Given the description of an element on the screen output the (x, y) to click on. 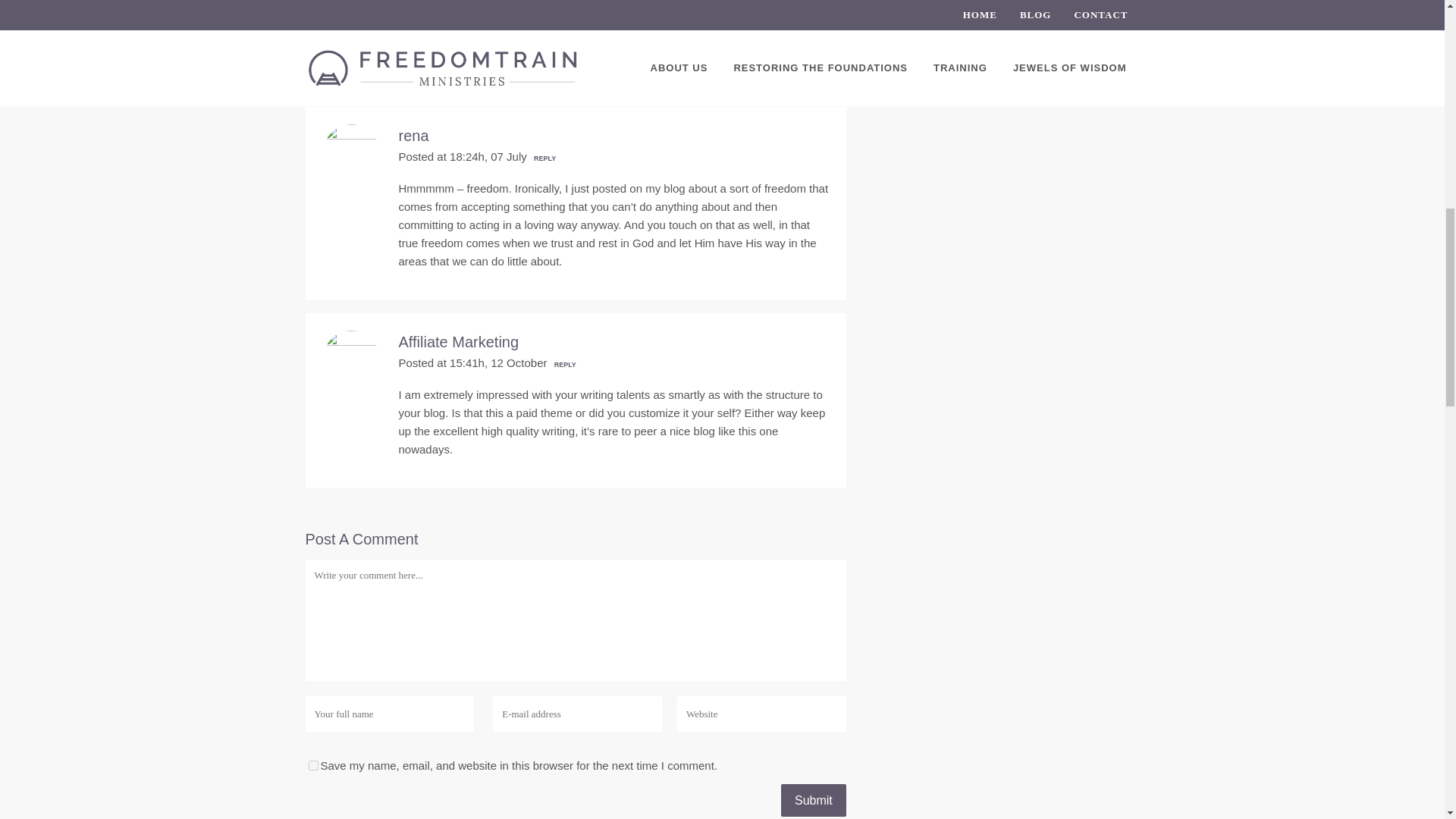
Submit (812, 799)
rena (413, 135)
Affiliate Marketing (458, 341)
yes (312, 765)
REPLY (563, 364)
Submit (812, 799)
REPLY (542, 158)
